Given the description of an element on the screen output the (x, y) to click on. 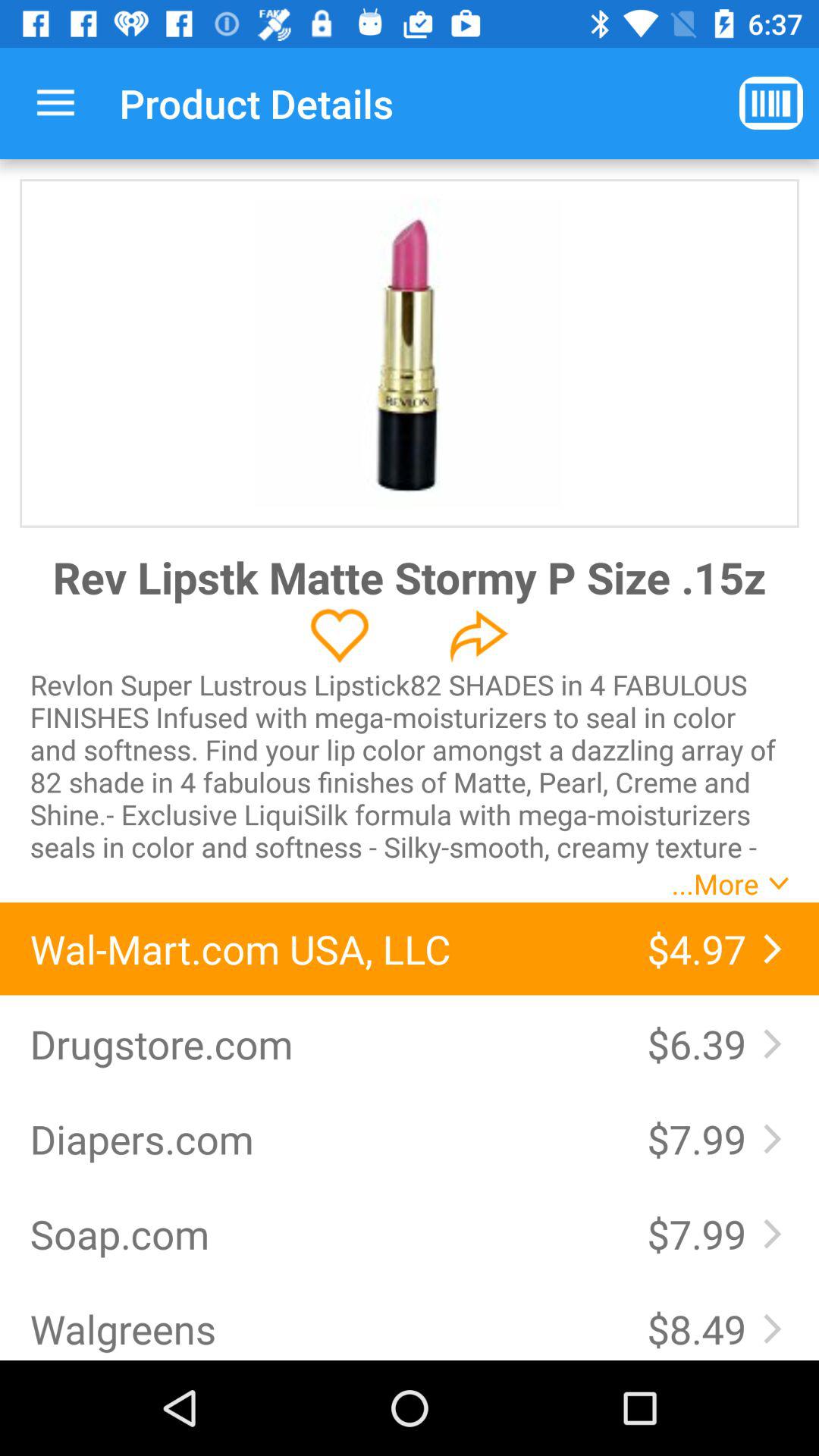
jump to ...more (714, 883)
